Given the description of an element on the screen output the (x, y) to click on. 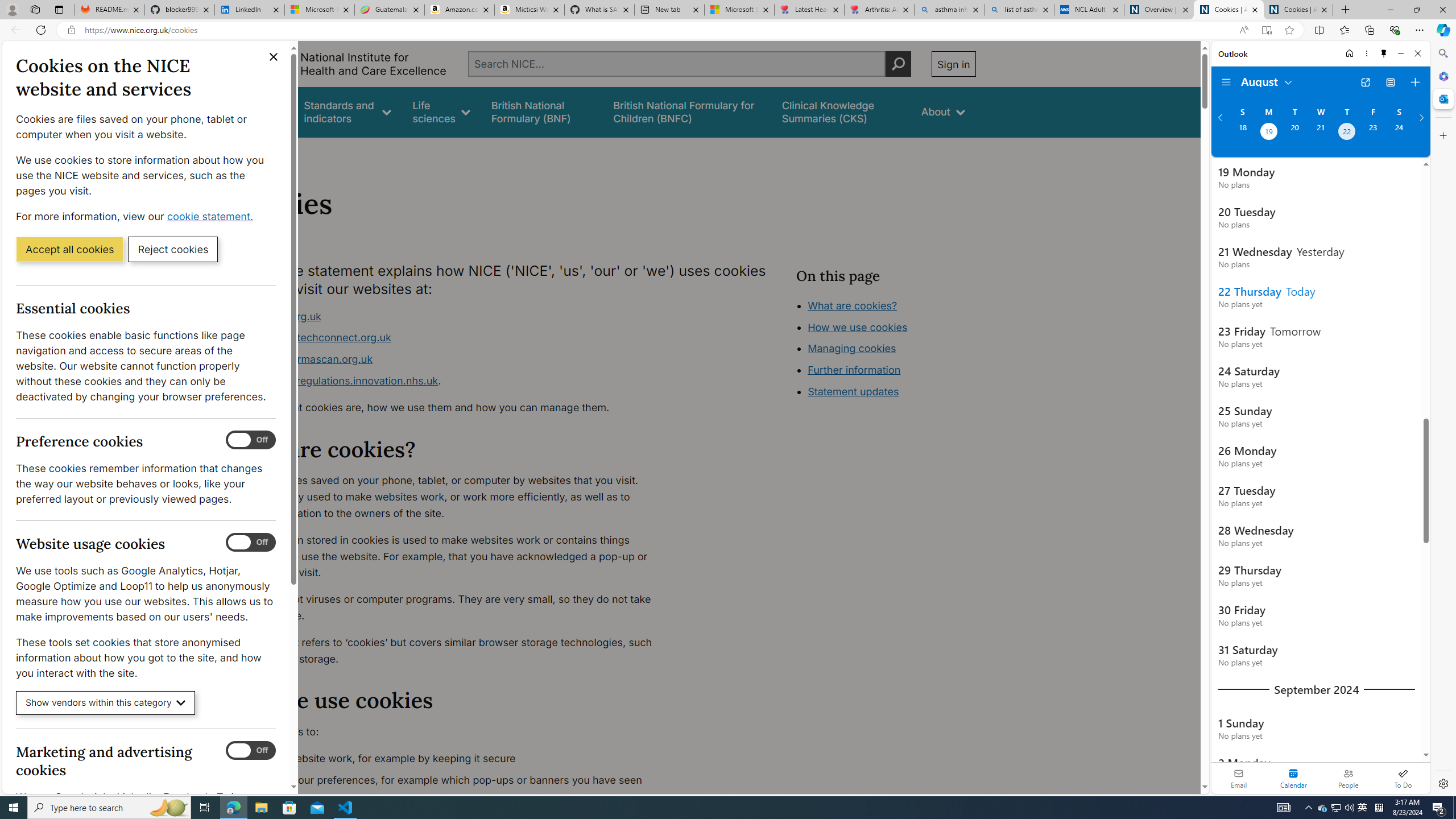
www.ukpharmascan.org.uk (305, 359)
Open in new tab (1365, 82)
Managing cookies (852, 348)
Monday, August 19, 2024. Date selected.  (1268, 132)
Website usage cookies (250, 542)
